Given the description of an element on the screen output the (x, y) to click on. 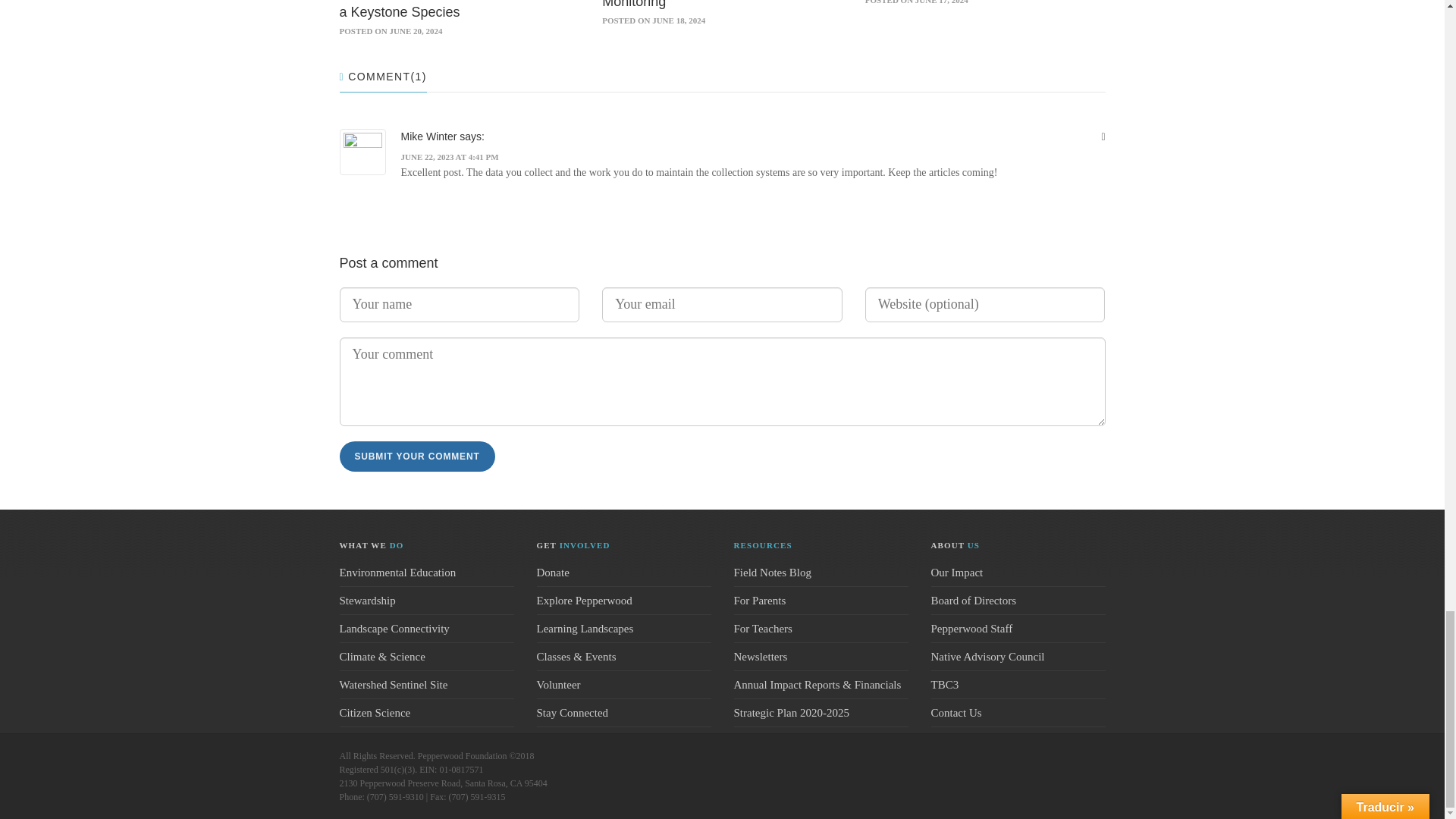
Submit your comment (417, 456)
